Given the description of an element on the screen output the (x, y) to click on. 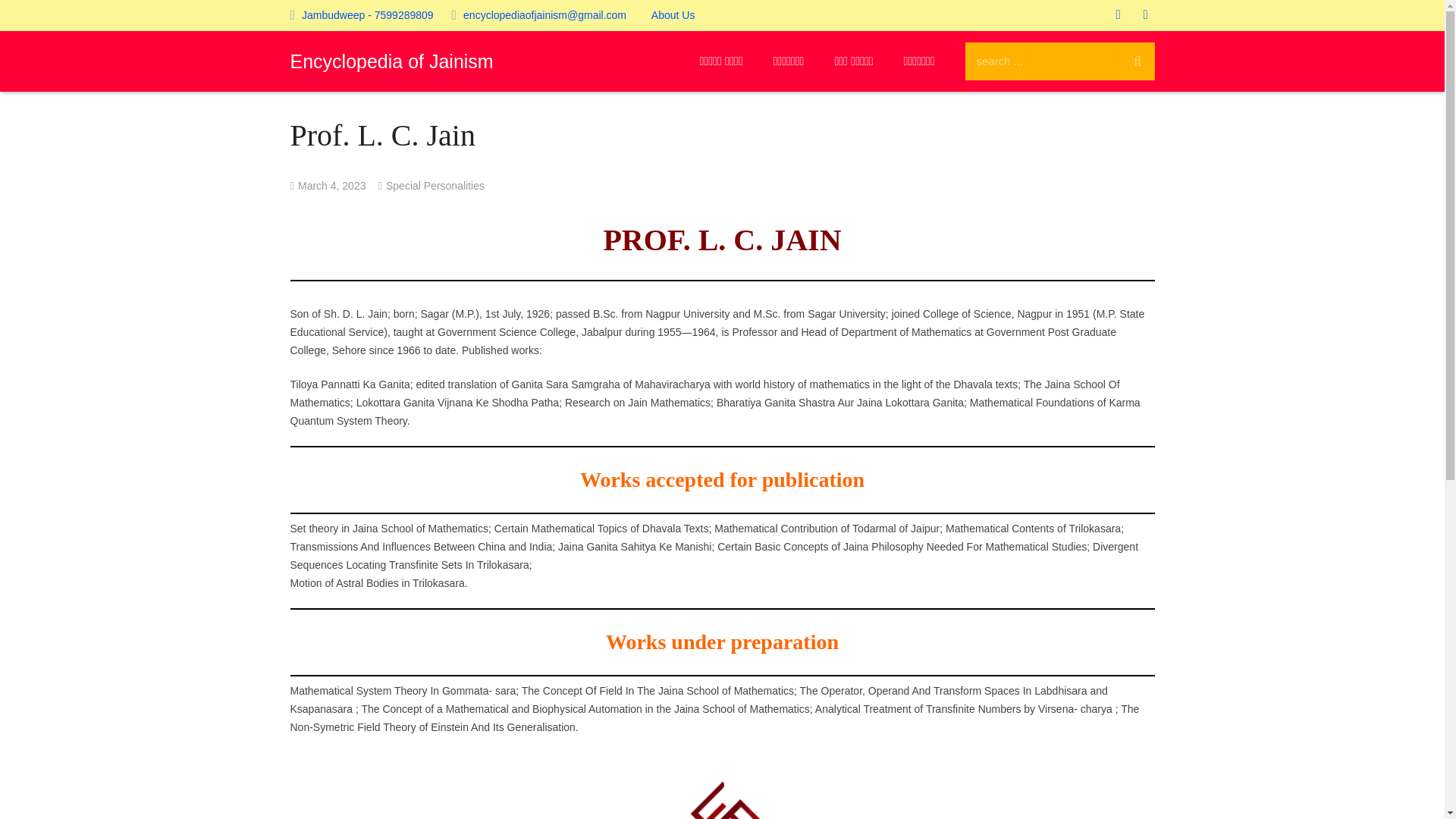
Encyclopedia of Jainism (391, 61)
Special Personalities (434, 185)
About Us (672, 15)
